Given the description of an element on the screen output the (x, y) to click on. 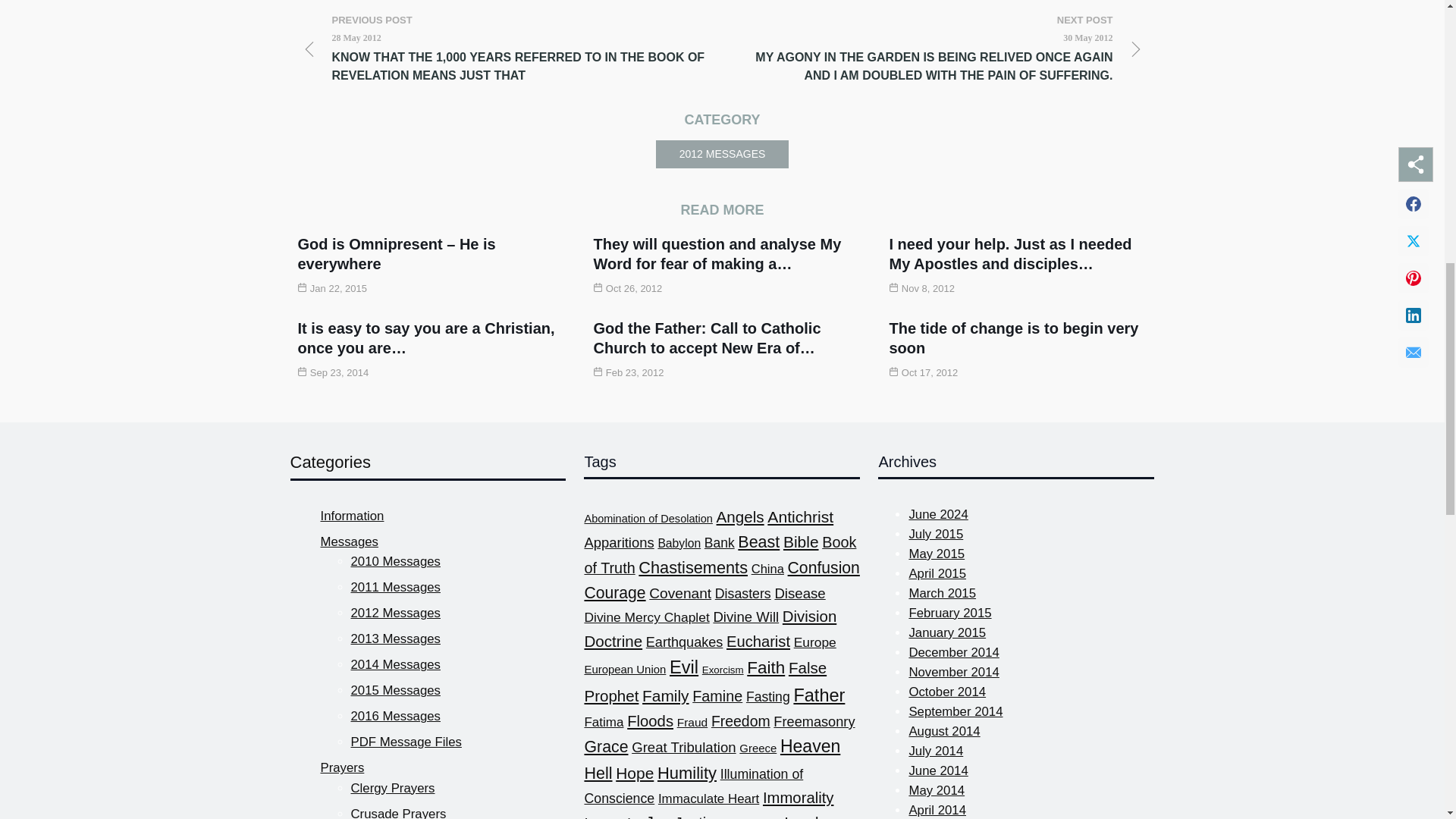
Messages (348, 541)
2012 MESSAGES (722, 154)
Information (352, 515)
The tide of change is to begin very soon (1013, 338)
2010 Messages (394, 561)
